Given the description of an element on the screen output the (x, y) to click on. 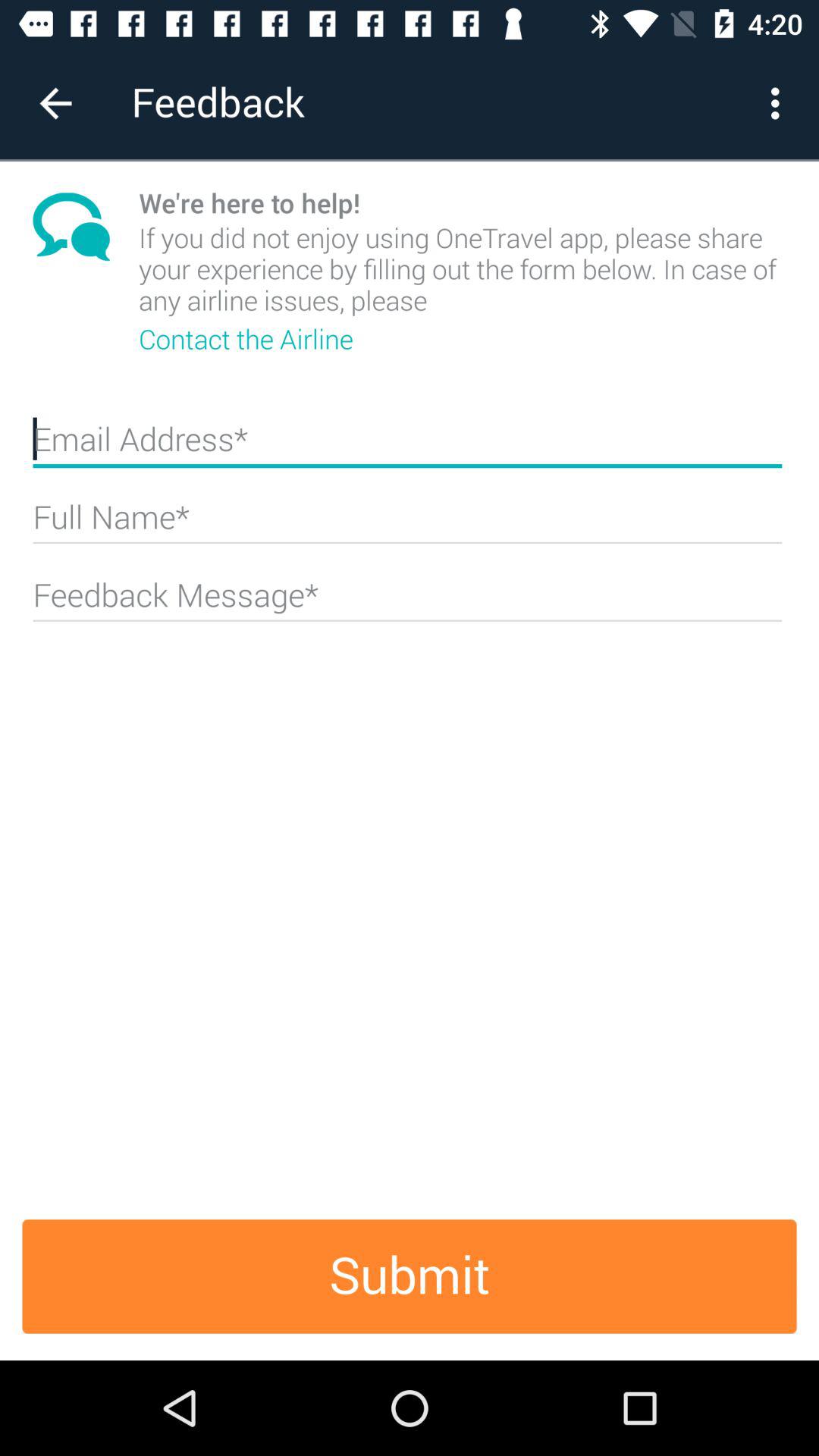
enter feedback message (407, 601)
